Given the description of an element on the screen output the (x, y) to click on. 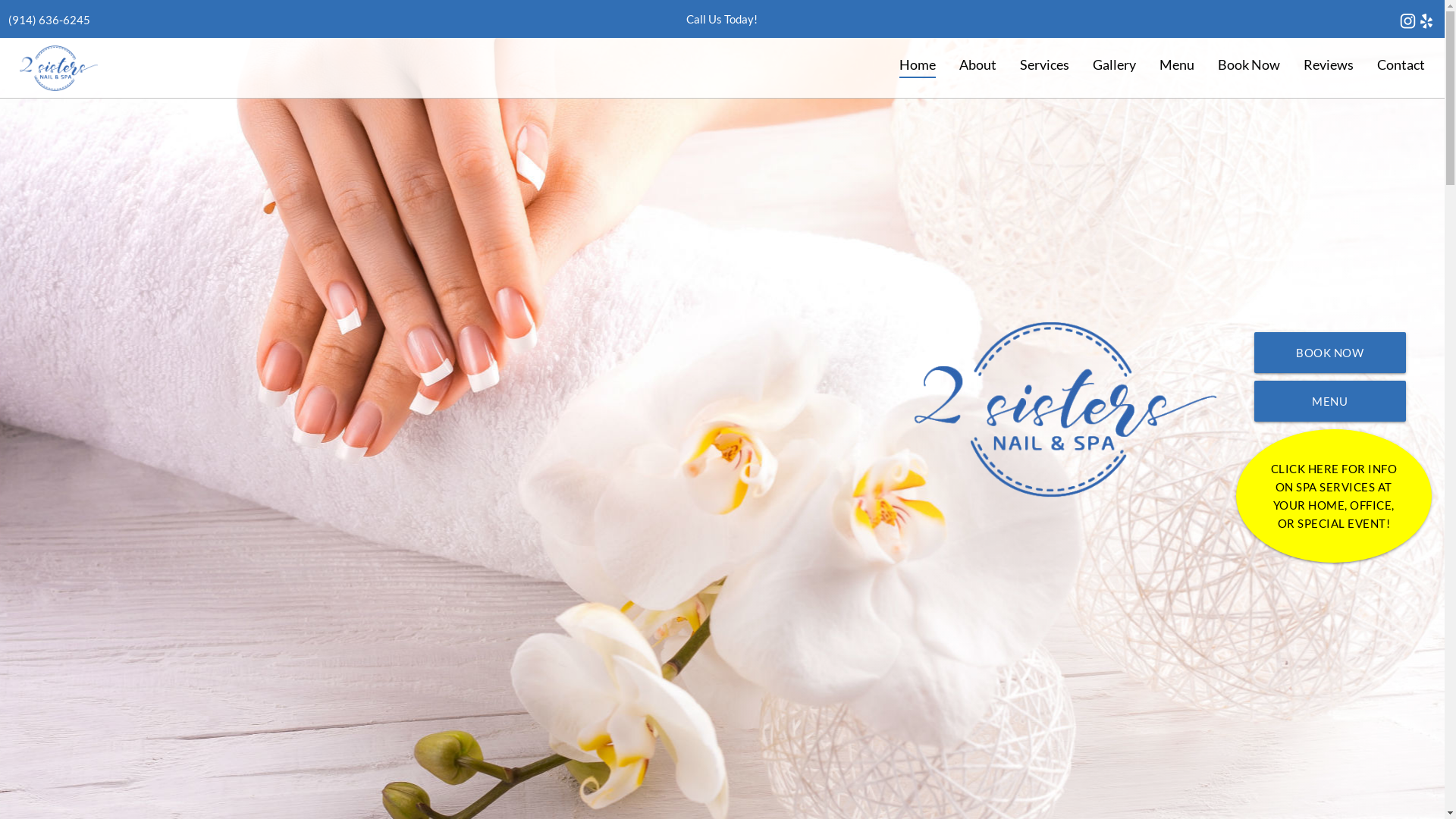
Reviews Element type: text (1328, 64)
MENU Element type: text (1329, 400)
Services Element type: text (1043, 64)
yelp-light Element type: hover (1426, 20)
Home Element type: text (917, 64)
BOOK NOW Element type: text (1329, 352)
Book Now Element type: text (1248, 64)
Contact Element type: text (1400, 64)
Gallery Element type: text (1113, 64)
(914) 636-6245 Element type: text (49, 19)
Menu Element type: text (1176, 64)
instagram-light Element type: hover (1407, 20)
About Element type: text (977, 64)
